Given the description of an element on the screen output the (x, y) to click on. 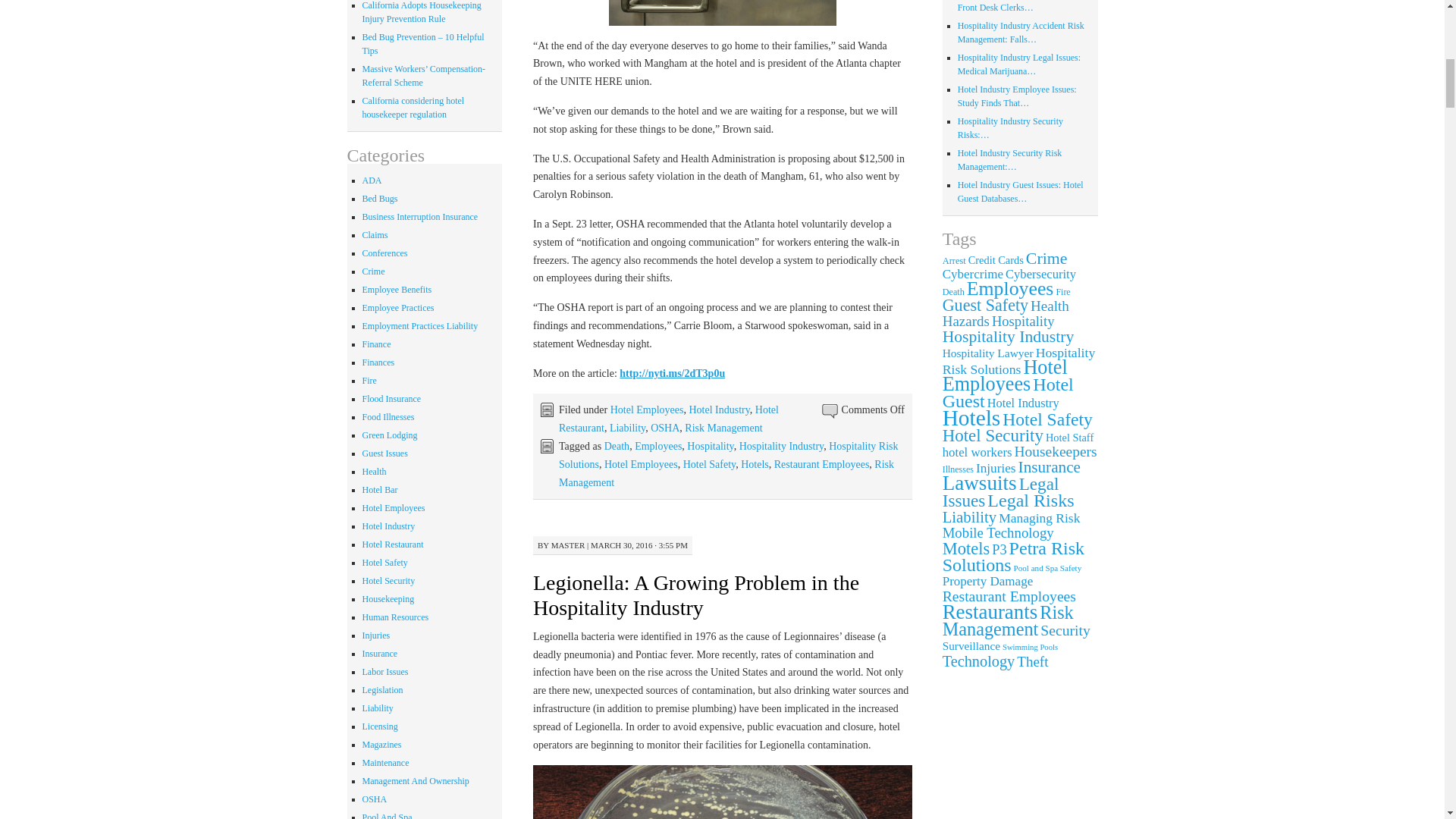
Employees (657, 446)
OSHA (664, 428)
Death (616, 446)
Risk Management (722, 428)
View all posts by master (568, 544)
Hotel Restaurant (668, 419)
Hotels (754, 464)
Hospitality (710, 446)
Hotel Employees (641, 464)
Hotel Employees (647, 409)
Hospitality Risk Solutions (728, 455)
MASTER (568, 544)
Hospitality Industry (781, 446)
Liability (627, 428)
Restaurant Employees (821, 464)
